Given the description of an element on the screen output the (x, y) to click on. 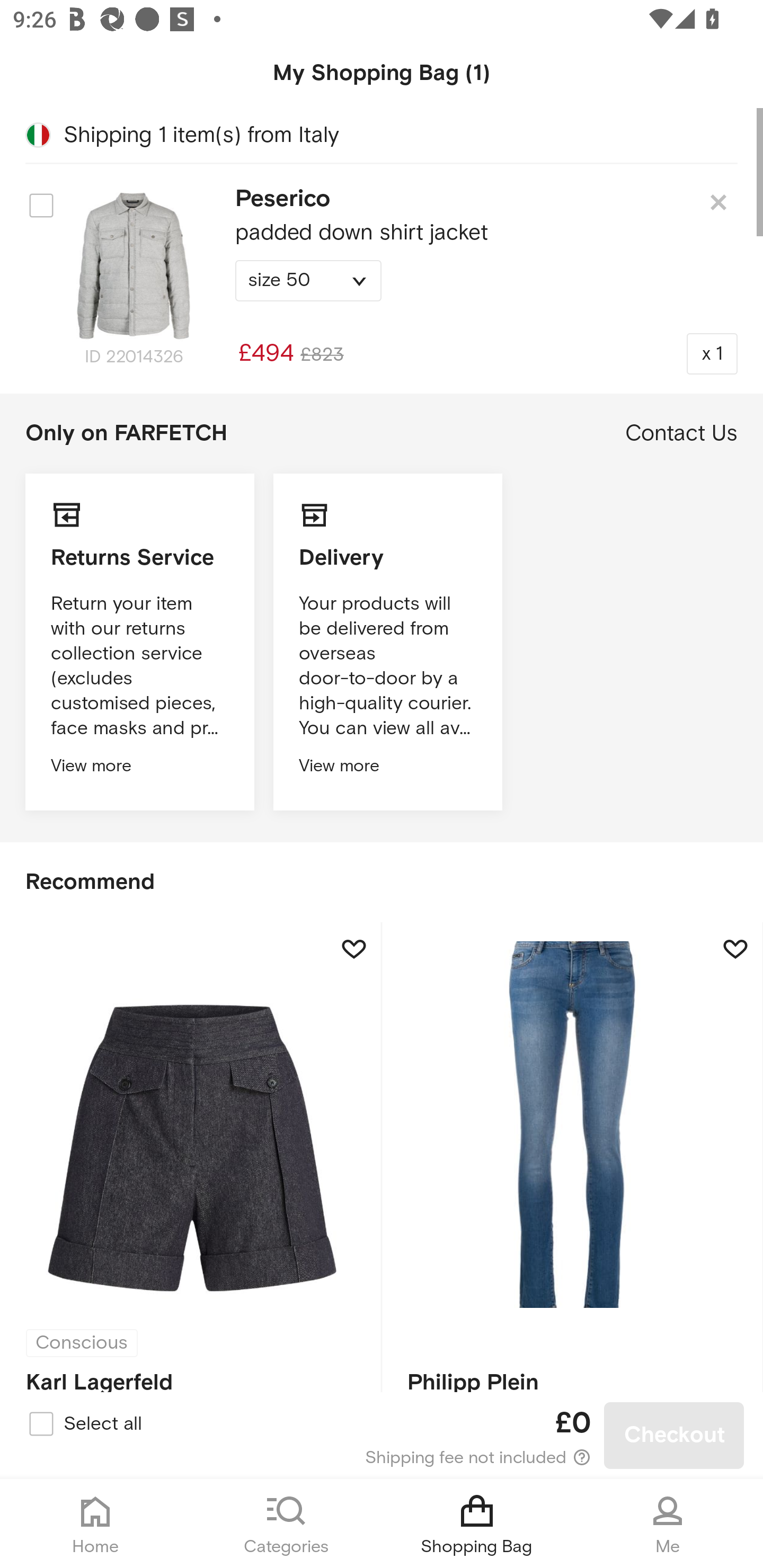
size 50 (308, 280)
x 1 (711, 353)
Contact Us (680, 433)
£0 Shipping fee not included (382, 1435)
Checkout (673, 1435)
Home (95, 1523)
Categories (285, 1523)
Me (667, 1523)
